Given the description of an element on the screen output the (x, y) to click on. 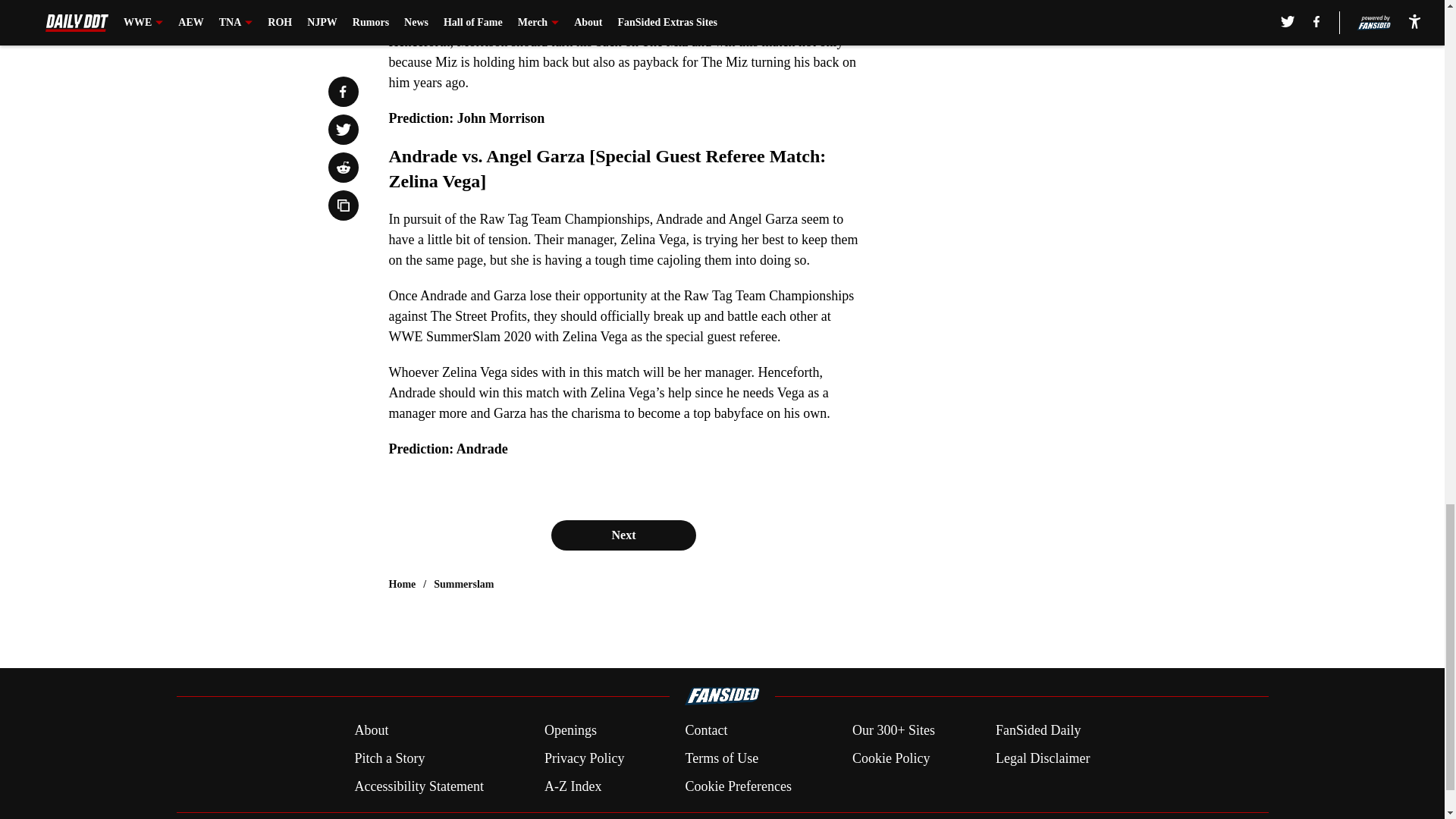
Next (622, 535)
Summerslam (463, 584)
Home (401, 584)
